Given the description of an element on the screen output the (x, y) to click on. 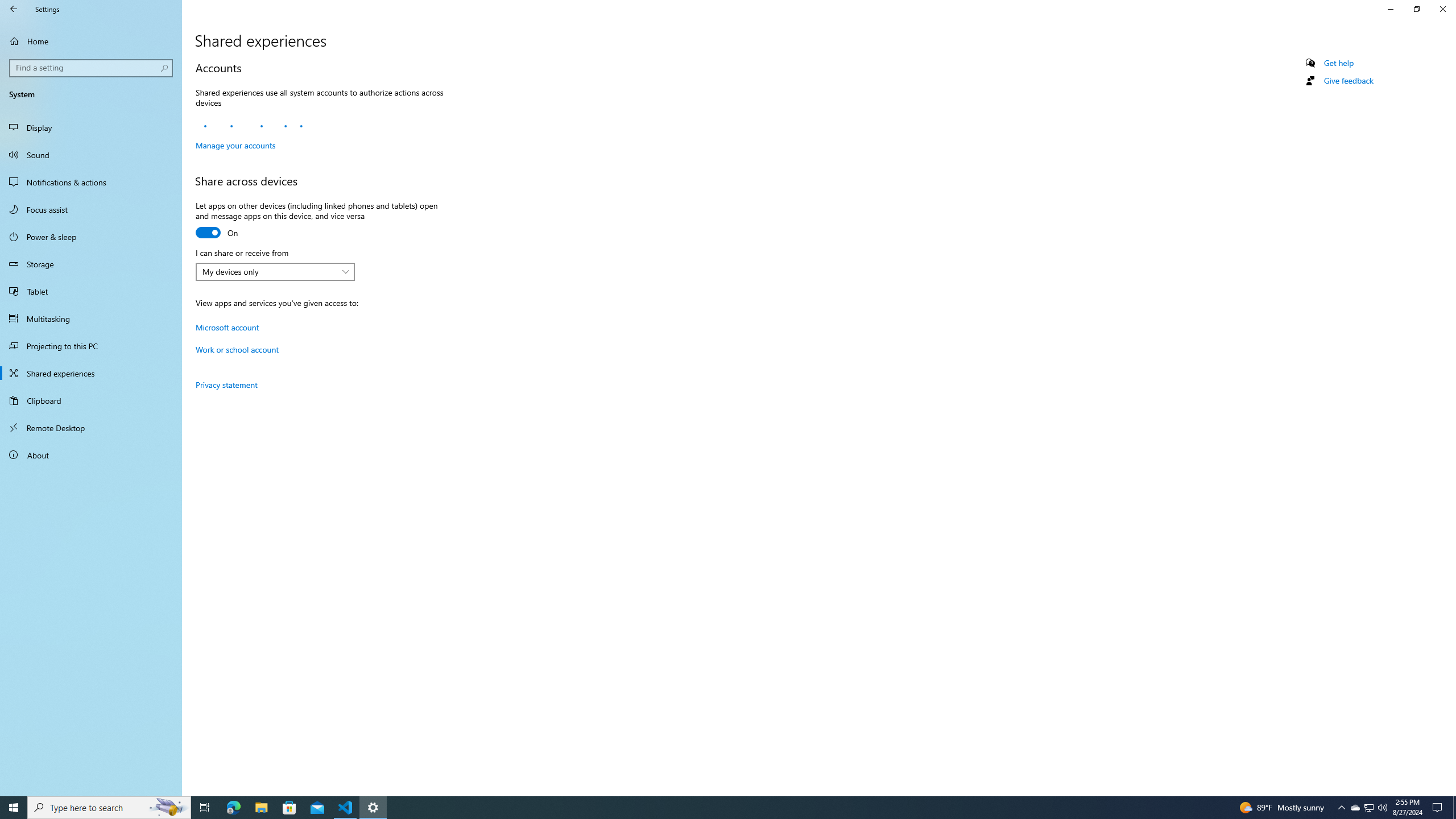
Show desktop (1454, 807)
Power & sleep (91, 236)
Multitasking (91, 318)
Minimize Settings (1390, 9)
Type here to search (108, 807)
Back (13, 9)
Start (13, 807)
Settings - 1 running window (373, 807)
Notification Chevron (1341, 807)
Close Settings (1442, 9)
About (91, 454)
Privacy statement (226, 384)
Home (91, 40)
